Given the description of an element on the screen output the (x, y) to click on. 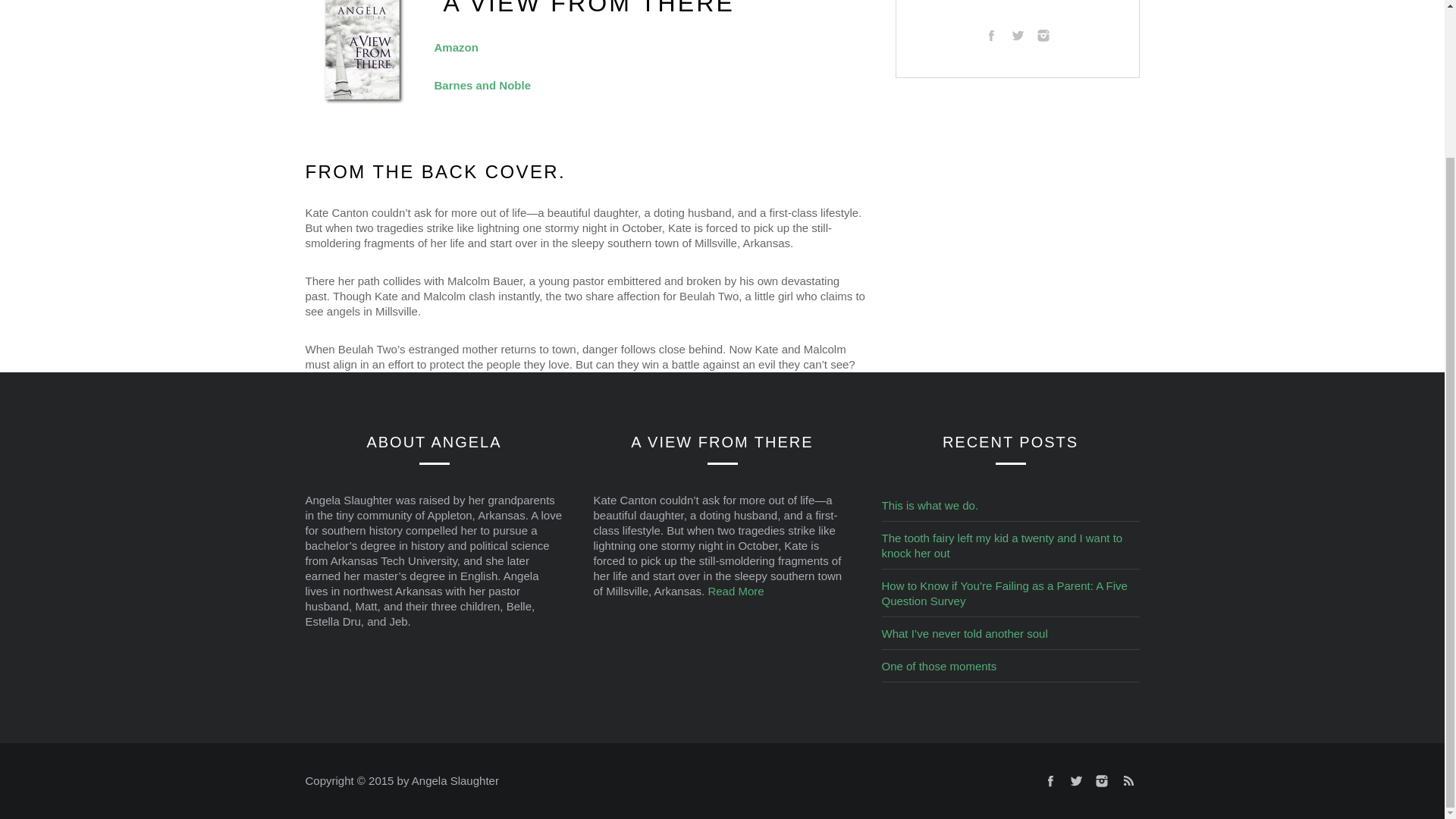
One of those moments (937, 666)
Barnes and Noble (482, 84)
Barnes and Noble (482, 84)
Amazon (455, 47)
Amazon (455, 47)
Read More (734, 590)
This is what we do. (929, 504)
